Given the description of an element on the screen output the (x, y) to click on. 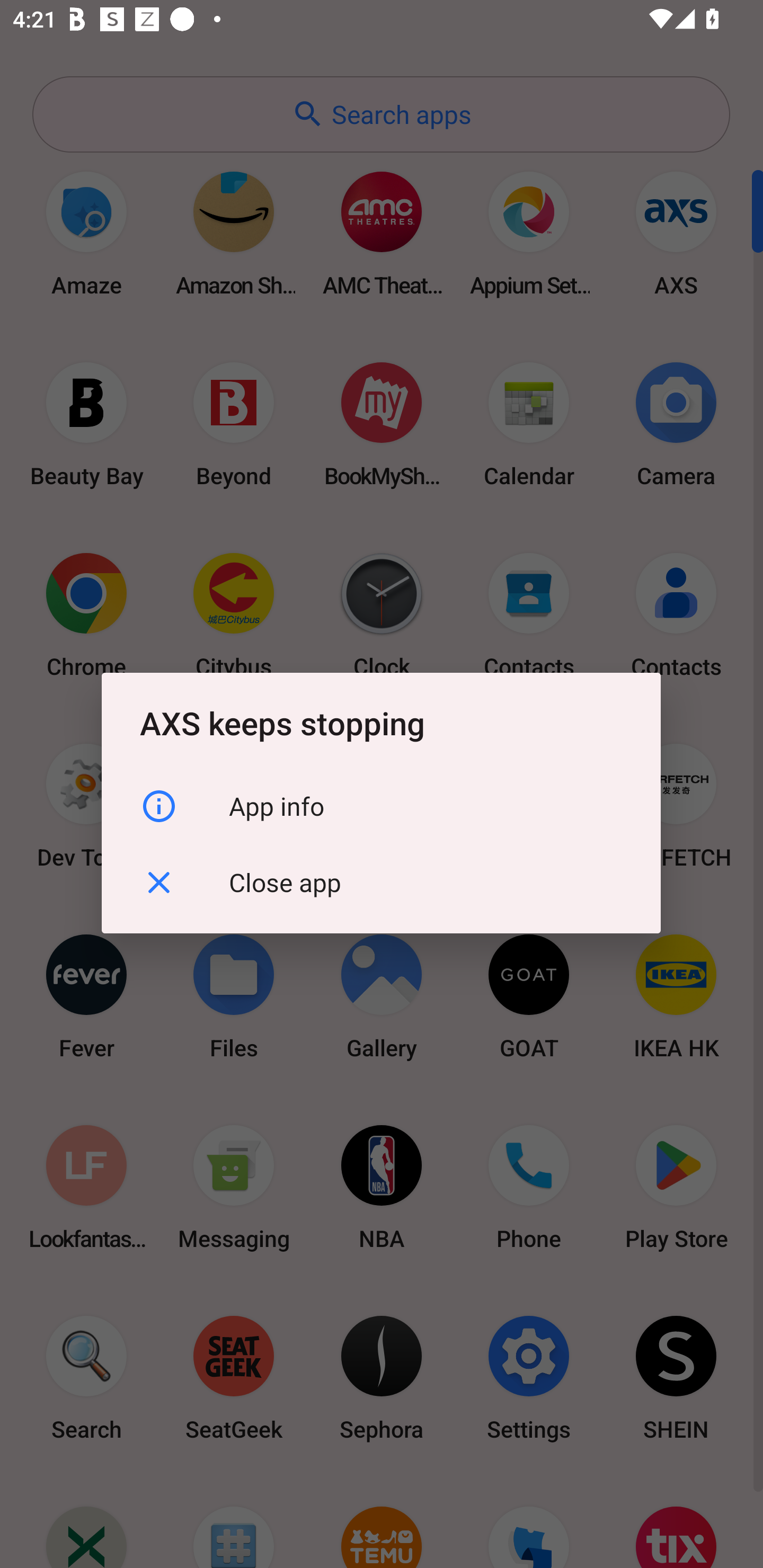
App info (380, 806)
Close app (380, 882)
